Given the description of an element on the screen output the (x, y) to click on. 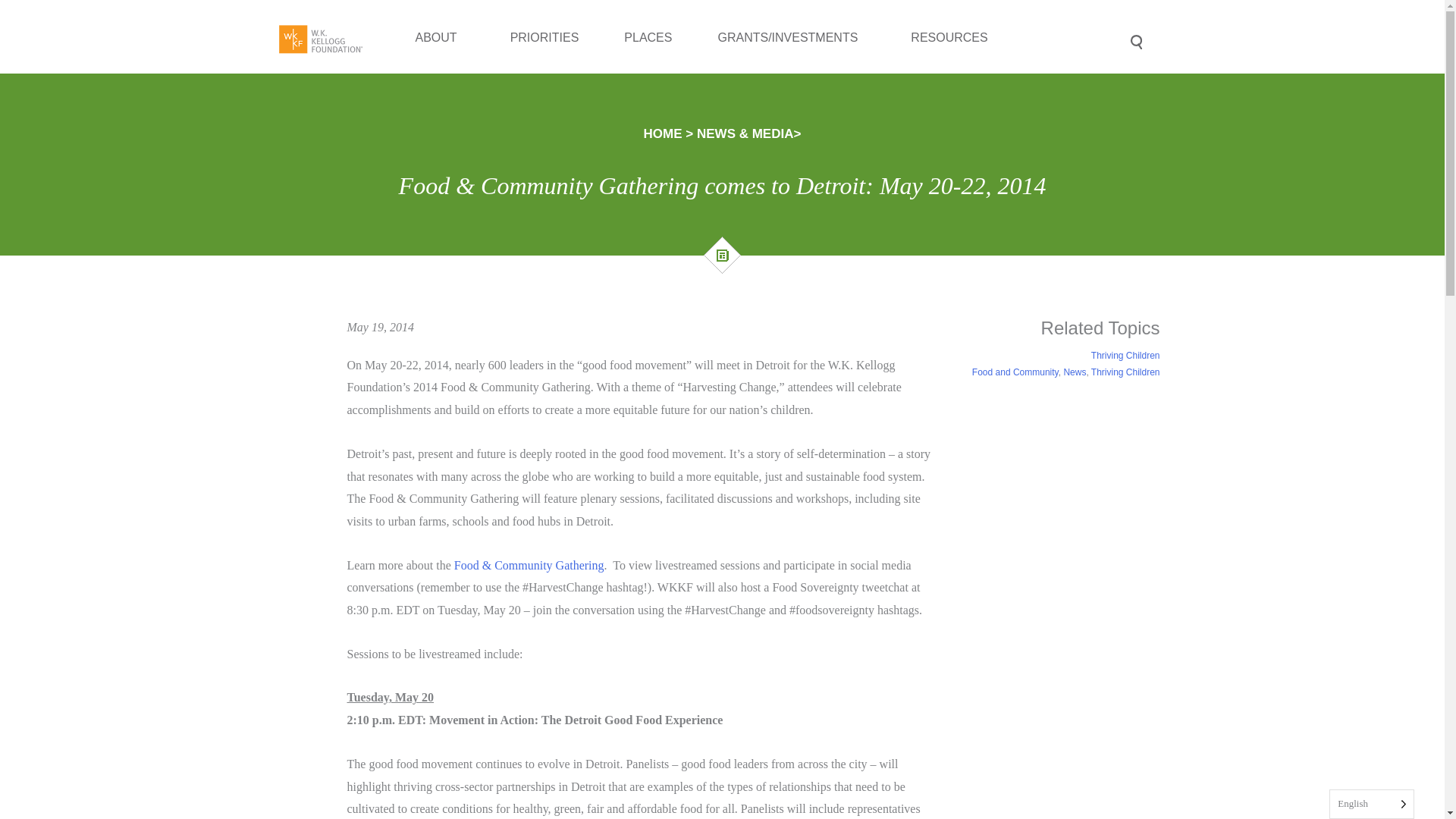
RESOURCES (952, 45)
PLACES (647, 68)
PRIORITIES (544, 73)
ABOUT (440, 94)
